Given the description of an element on the screen output the (x, y) to click on. 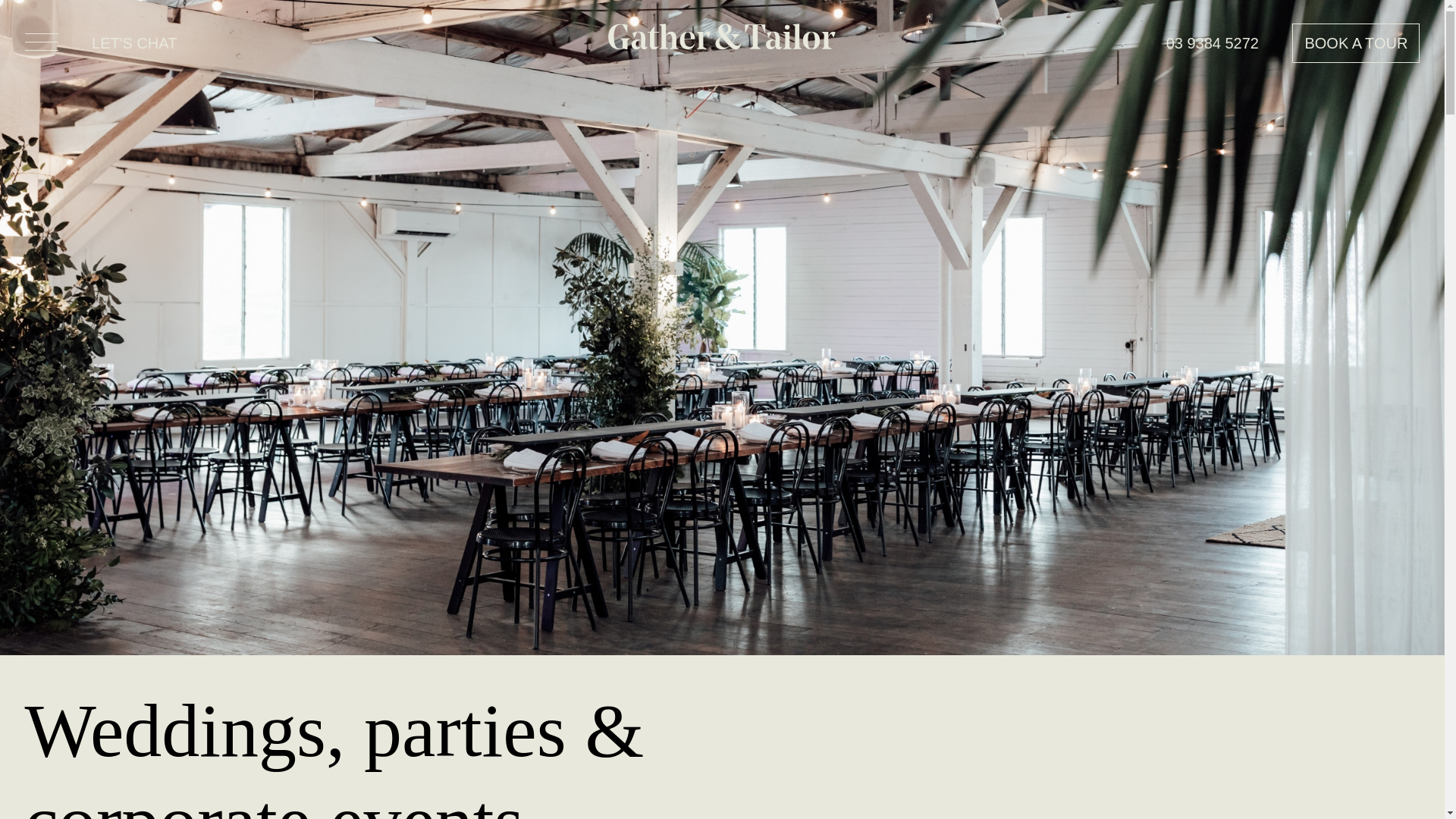
BOOK A TOUR (1355, 43)
LET'S CHAT (133, 43)
03 9384 5272 (1212, 43)
